Given the description of an element on the screen output the (x, y) to click on. 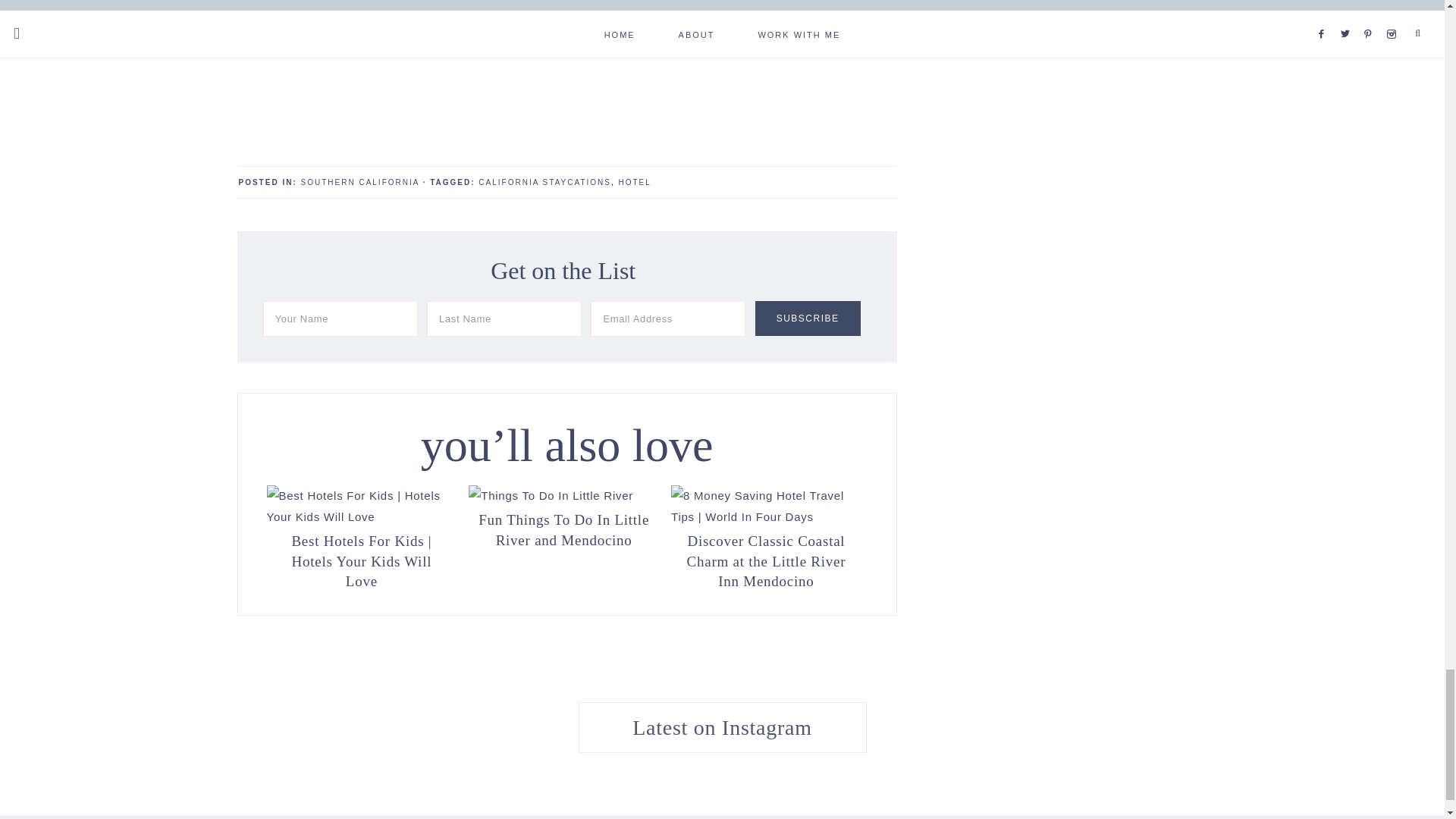
CALIFORNIA STAYCATIONS (545, 182)
HOTEL (634, 182)
Subscribe (807, 318)
Subscribe (807, 318)
SOUTHERN CALIFORNIA (360, 182)
